Given the description of an element on the screen output the (x, y) to click on. 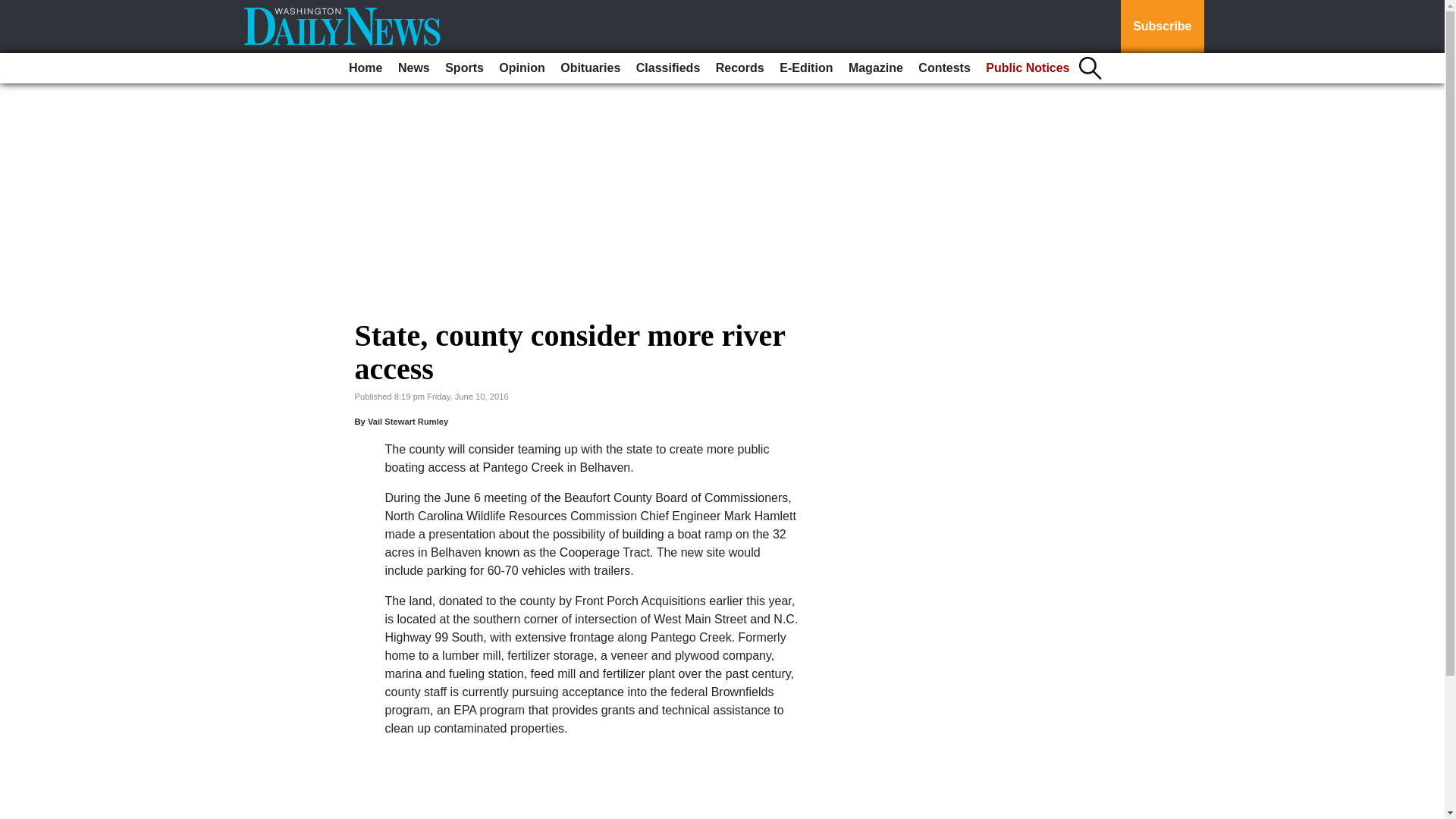
Subscribe (1162, 26)
Opinion (521, 68)
Vail Stewart Rumley (408, 420)
Sports (464, 68)
Magazine (875, 68)
E-Edition (805, 68)
Records (740, 68)
Obituaries (590, 68)
Contests (943, 68)
Classifieds (668, 68)
